Given the description of an element on the screen output the (x, y) to click on. 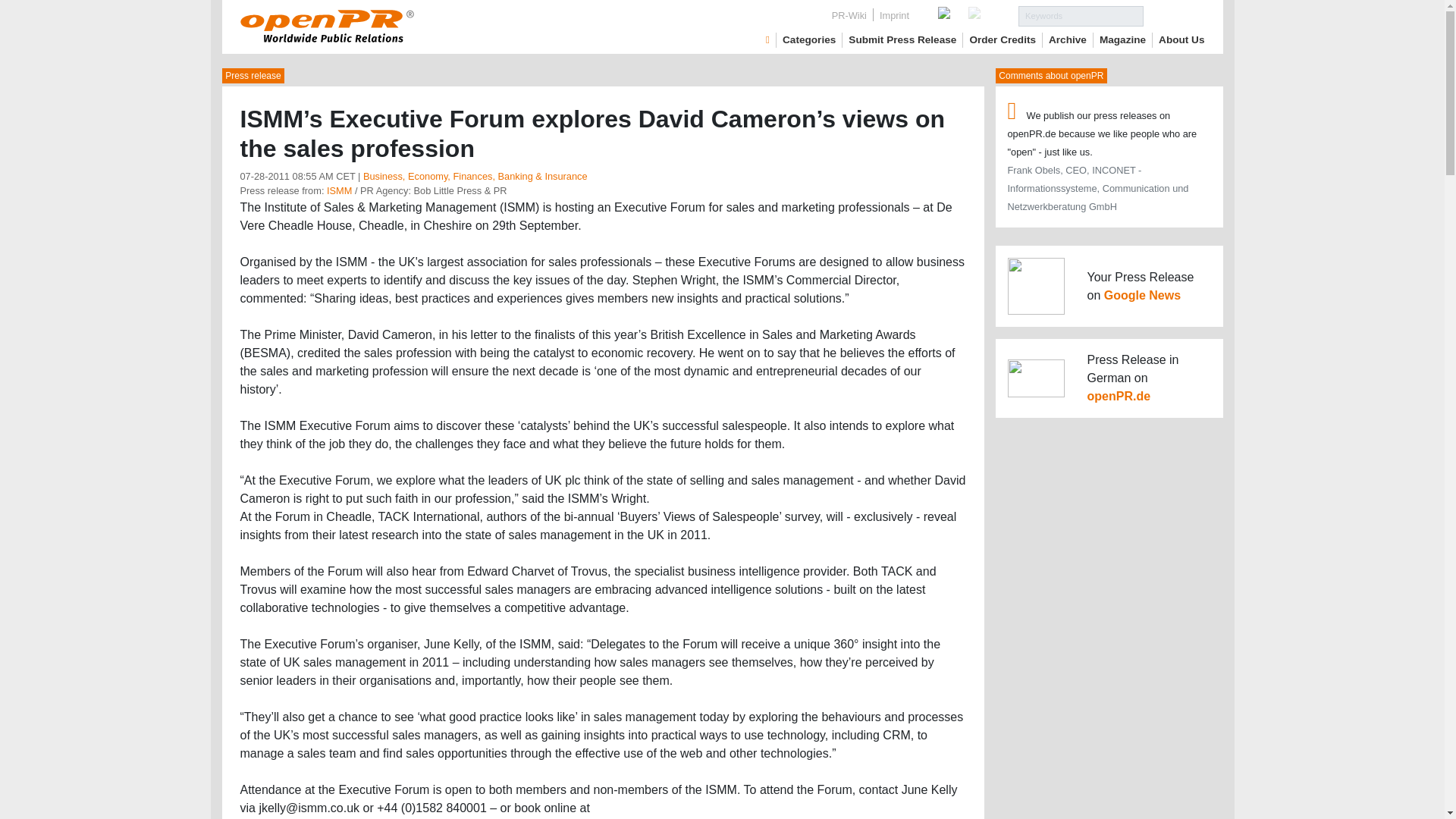
Imprint (894, 15)
PR-Wiki (848, 15)
archive und pressrelease of ISMM (339, 190)
Search   (1173, 15)
Order Credits (1002, 39)
Categories (809, 39)
Archive (1067, 39)
About Us (1181, 39)
Magazine (1122, 39)
Submit Press Release (902, 39)
ISMM (339, 190)
